Given the description of an element on the screen output the (x, y) to click on. 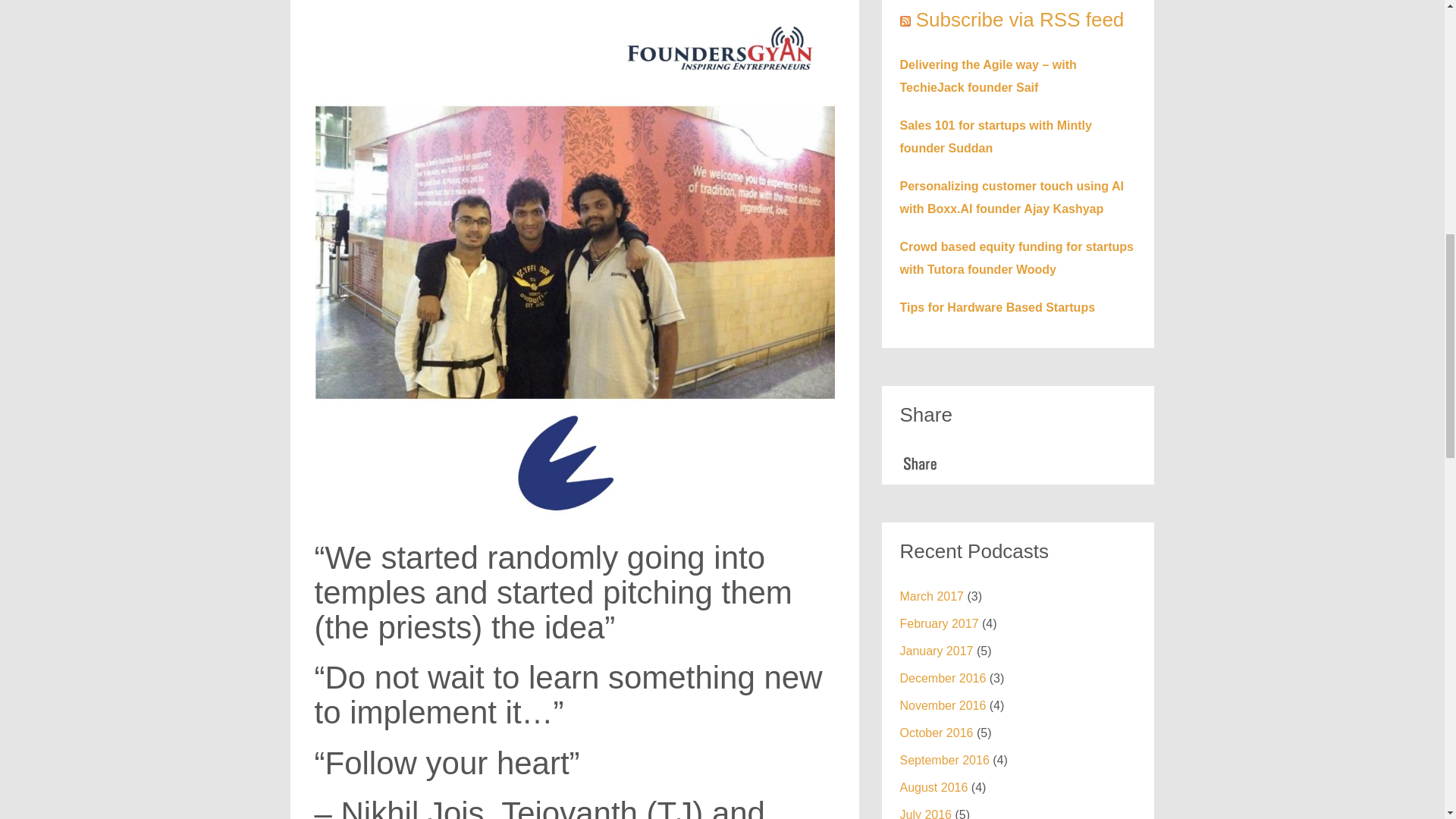
Subscribe via RSS feed (1019, 19)
March 2017 (931, 596)
Tips for Hardware Based Startups (996, 307)
Sales 101 for startups with Mintly founder Suddan (994, 137)
January 2017 (935, 650)
February 2017 (938, 623)
